Given the description of an element on the screen output the (x, y) to click on. 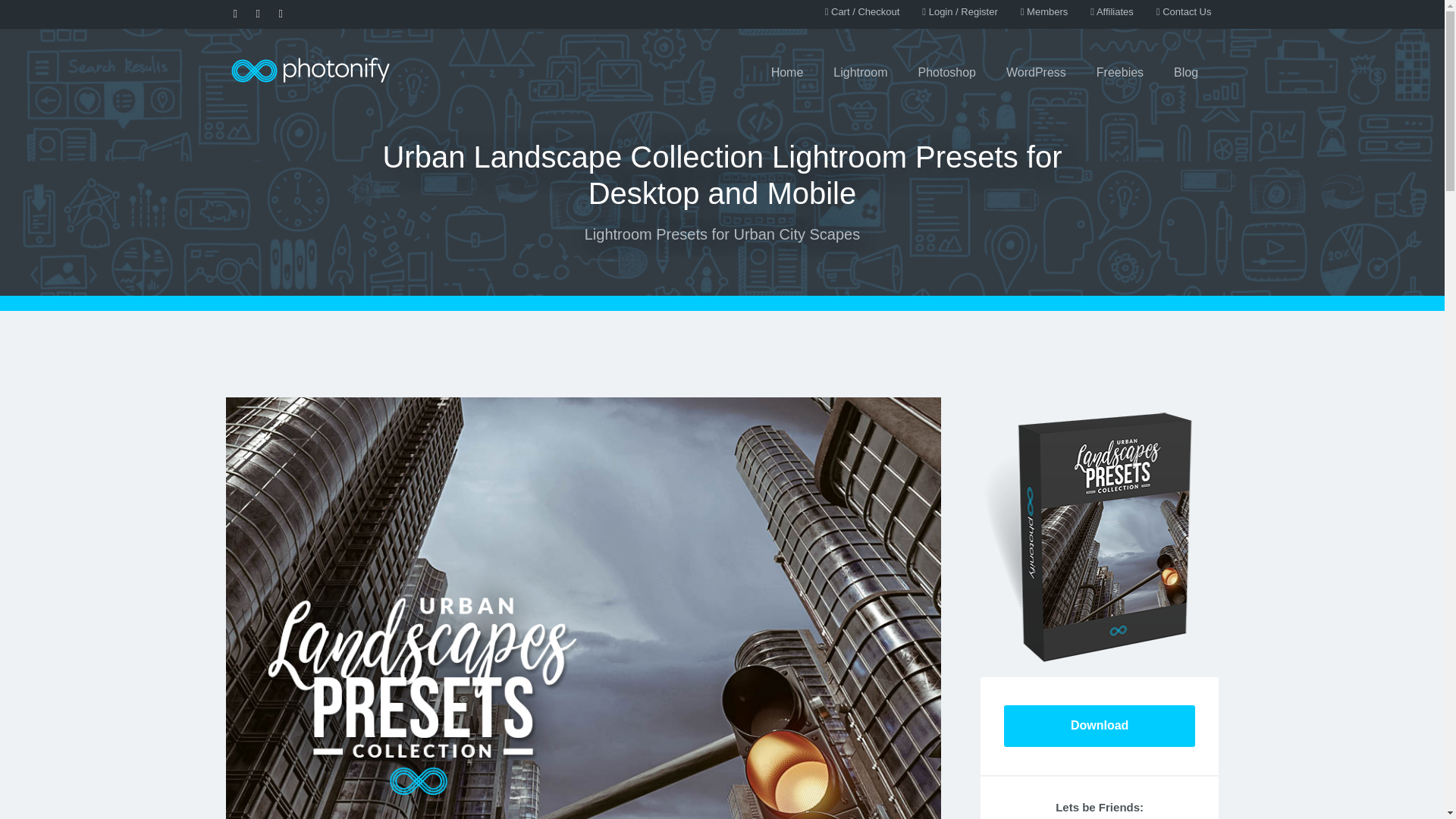
Members (1044, 12)
WordPress (1036, 73)
Freebies (1119, 73)
Download (95, 20)
Blog (1185, 73)
Download (1098, 725)
Home (786, 73)
Lightroom (860, 73)
Affiliates (1111, 12)
Contact Us (1183, 12)
Photoshop (946, 73)
